Given the description of an element on the screen output the (x, y) to click on. 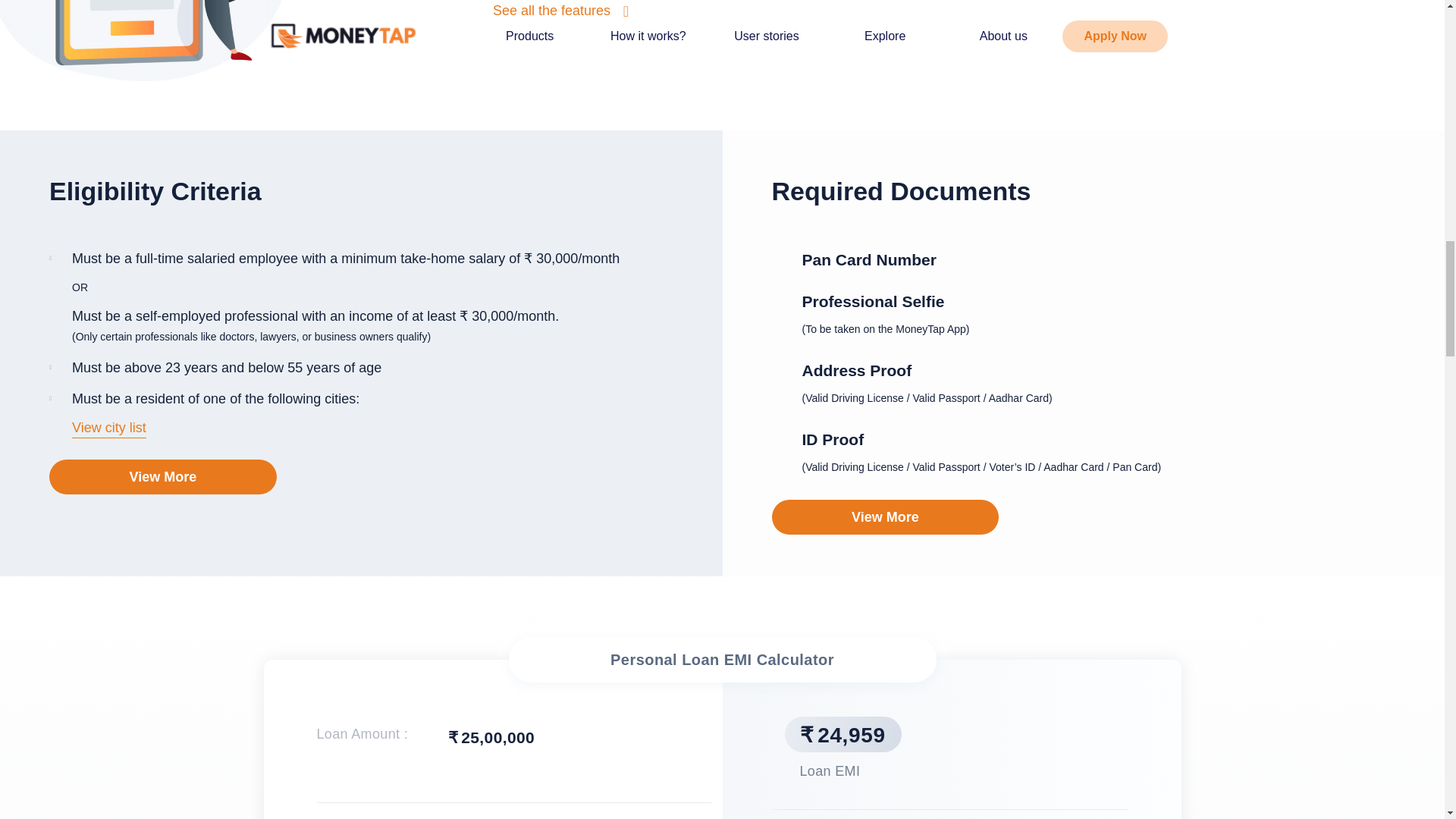
View city list (109, 423)
See all the features (551, 10)
View More (884, 516)
View More (162, 476)
25,00,000 (541, 737)
